Given the description of an element on the screen output the (x, y) to click on. 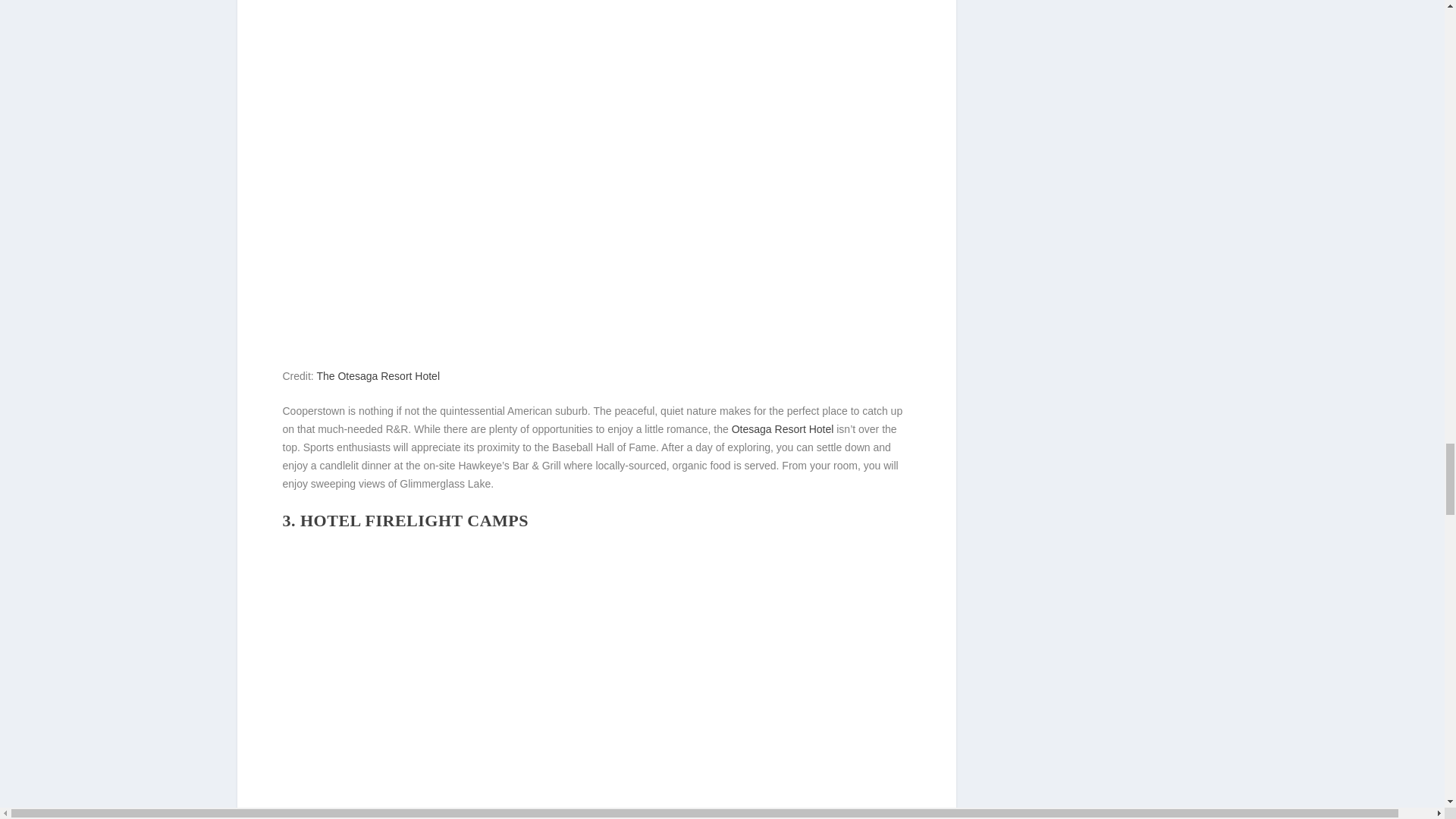
Cooperstown The Otesaga Resort Hotel (596, 74)
